Given the description of an element on the screen output the (x, y) to click on. 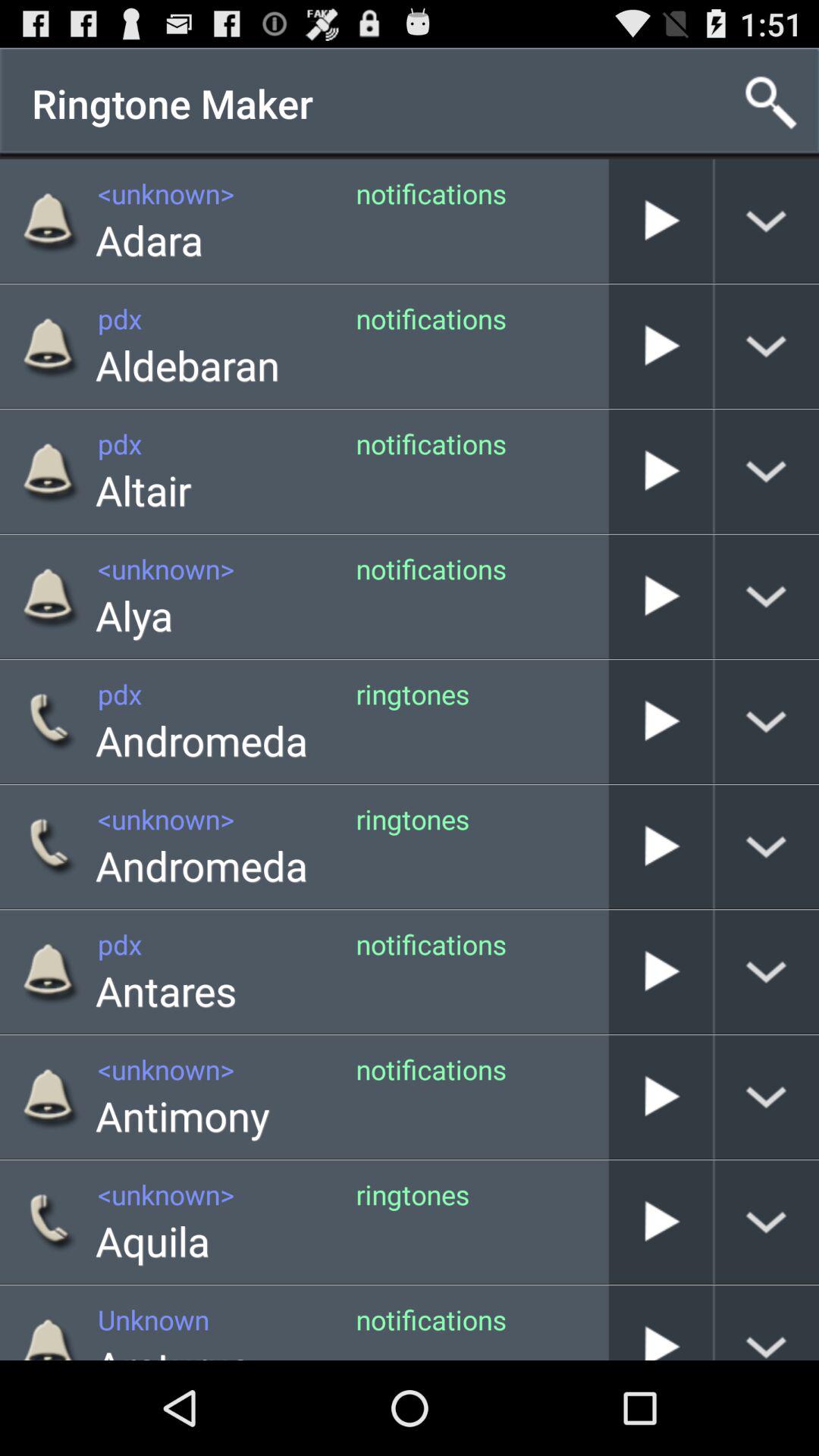
play (660, 346)
